Given the description of an element on the screen output the (x, y) to click on. 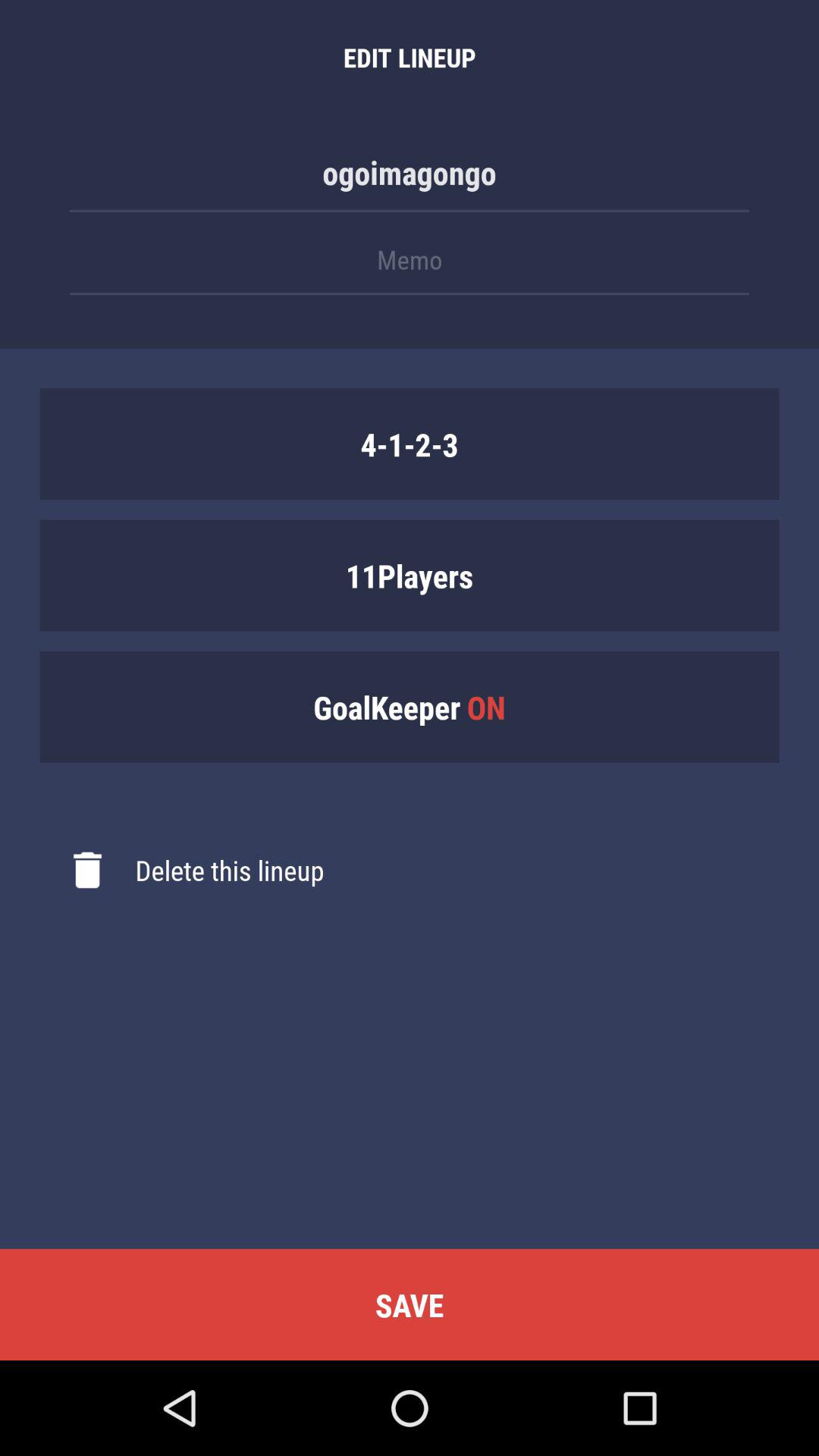
turn on the item below goalkeeper (181, 869)
